Given the description of an element on the screen output the (x, y) to click on. 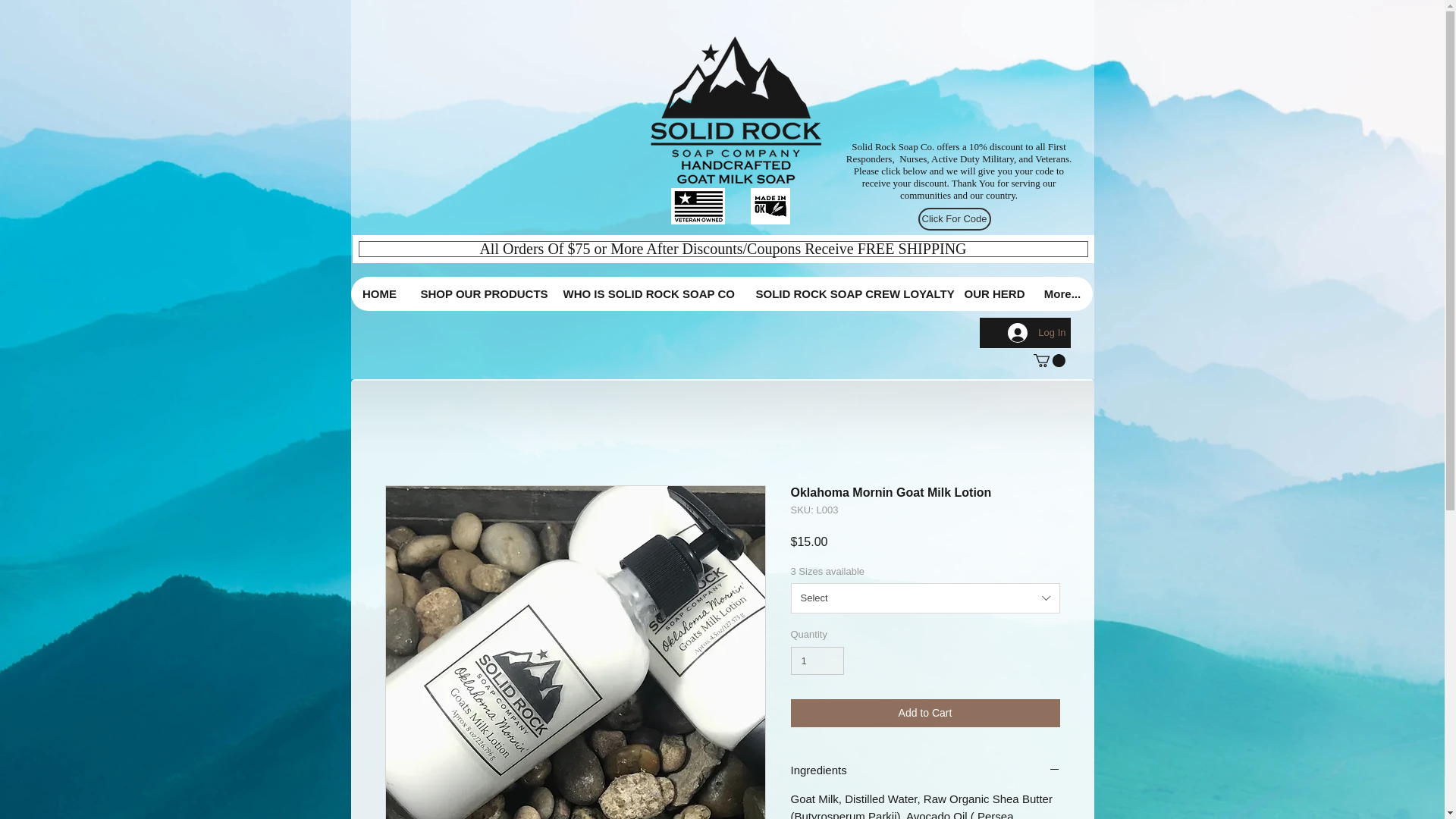
1 (817, 661)
Log In (1036, 332)
HOME (378, 293)
Select (924, 598)
SOLID ROCK SOAP CREW LOYALTY (847, 293)
Ingredients (924, 770)
Add to Cart (924, 713)
WHO IS SOLID ROCK SOAP CO (646, 293)
Click For Code (953, 219)
OUR HERD (992, 293)
